Given the description of an element on the screen output the (x, y) to click on. 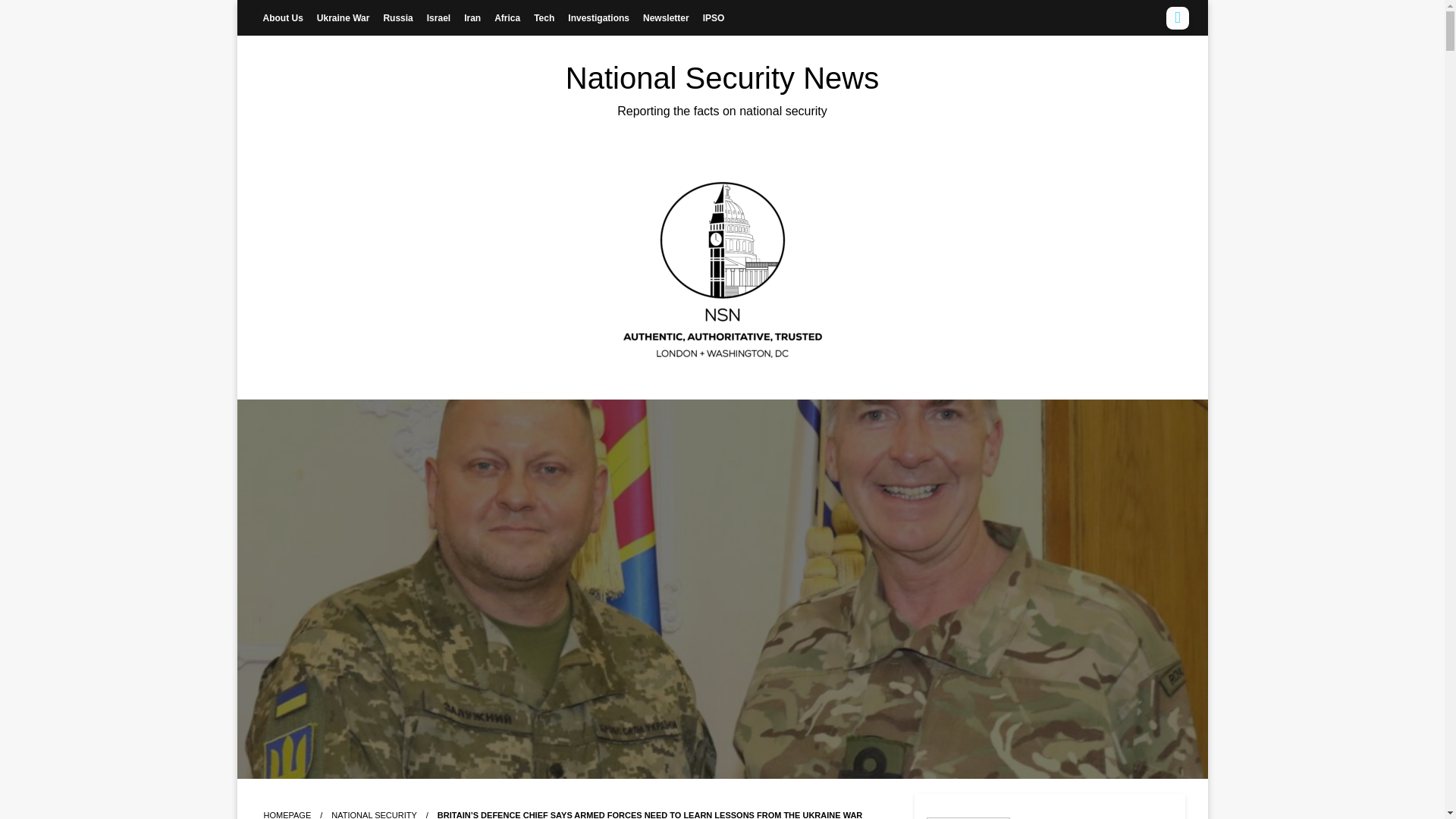
Russia (397, 17)
National Security (373, 814)
Tech (543, 17)
Africa (507, 17)
Iran (472, 17)
Israel (438, 17)
Homepage (287, 814)
About Us (283, 17)
Investigations (598, 17)
IPSO (713, 17)
